Given the description of an element on the screen output the (x, y) to click on. 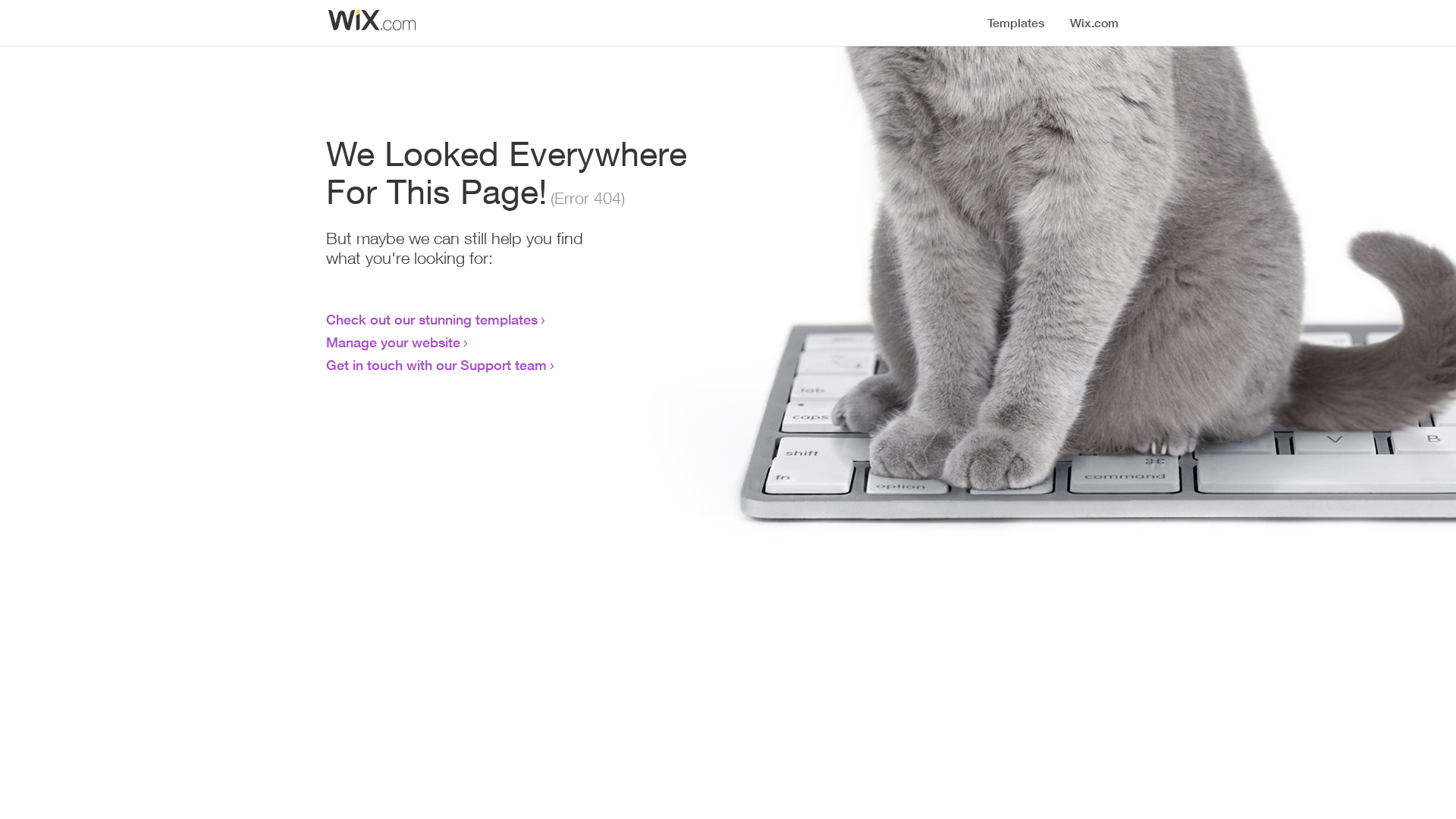
Manage your website Element type: text (393, 341)
Get in touch with our Support team Element type: text (436, 364)
Check out our stunning templates Element type: text (431, 318)
